Given the description of an element on the screen output the (x, y) to click on. 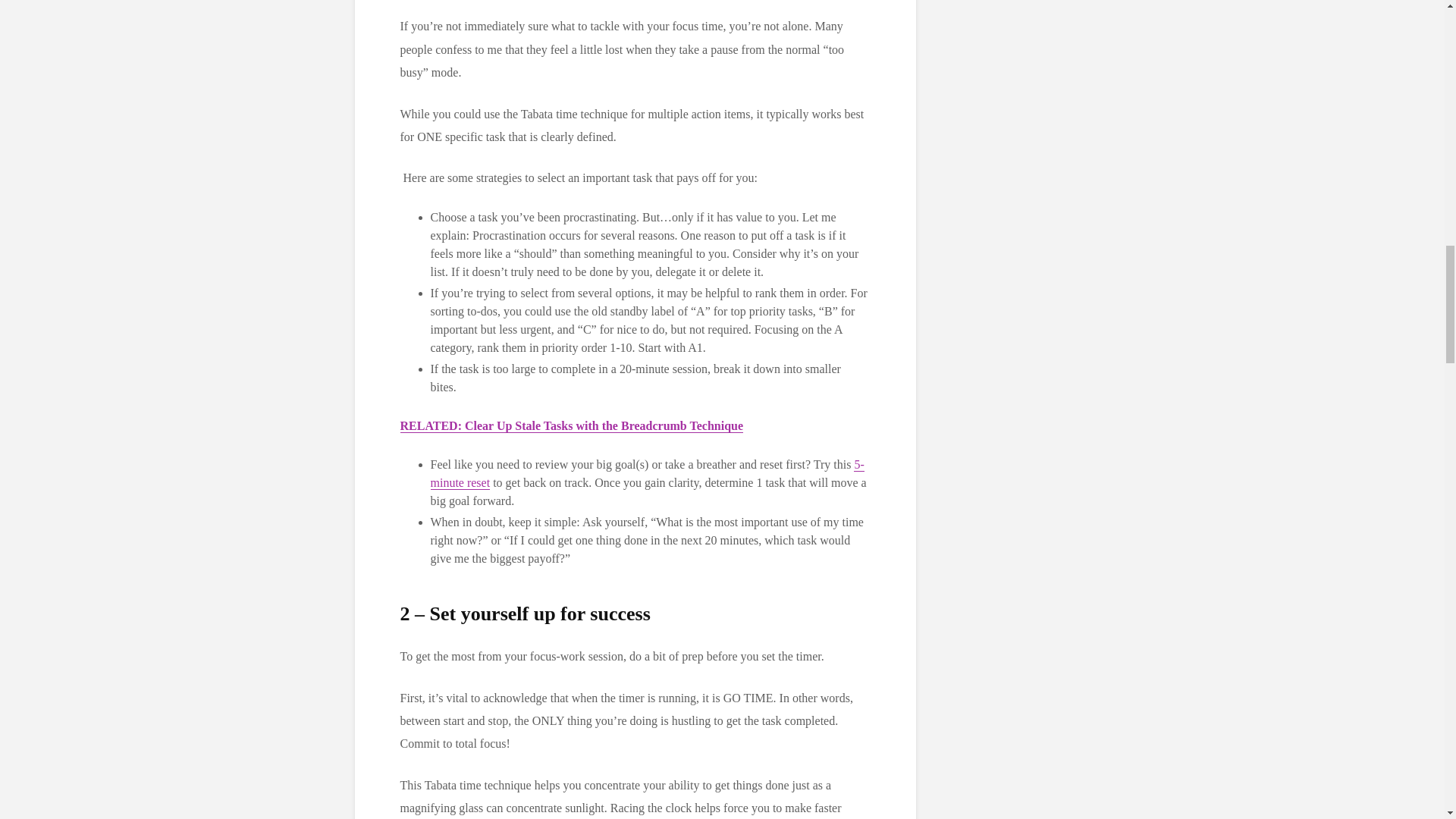
5-minute reset (647, 473)
RELATED: Clear Up Stale Tasks with the Breadcrumb Technique (572, 426)
